Given the description of an element on the screen output the (x, y) to click on. 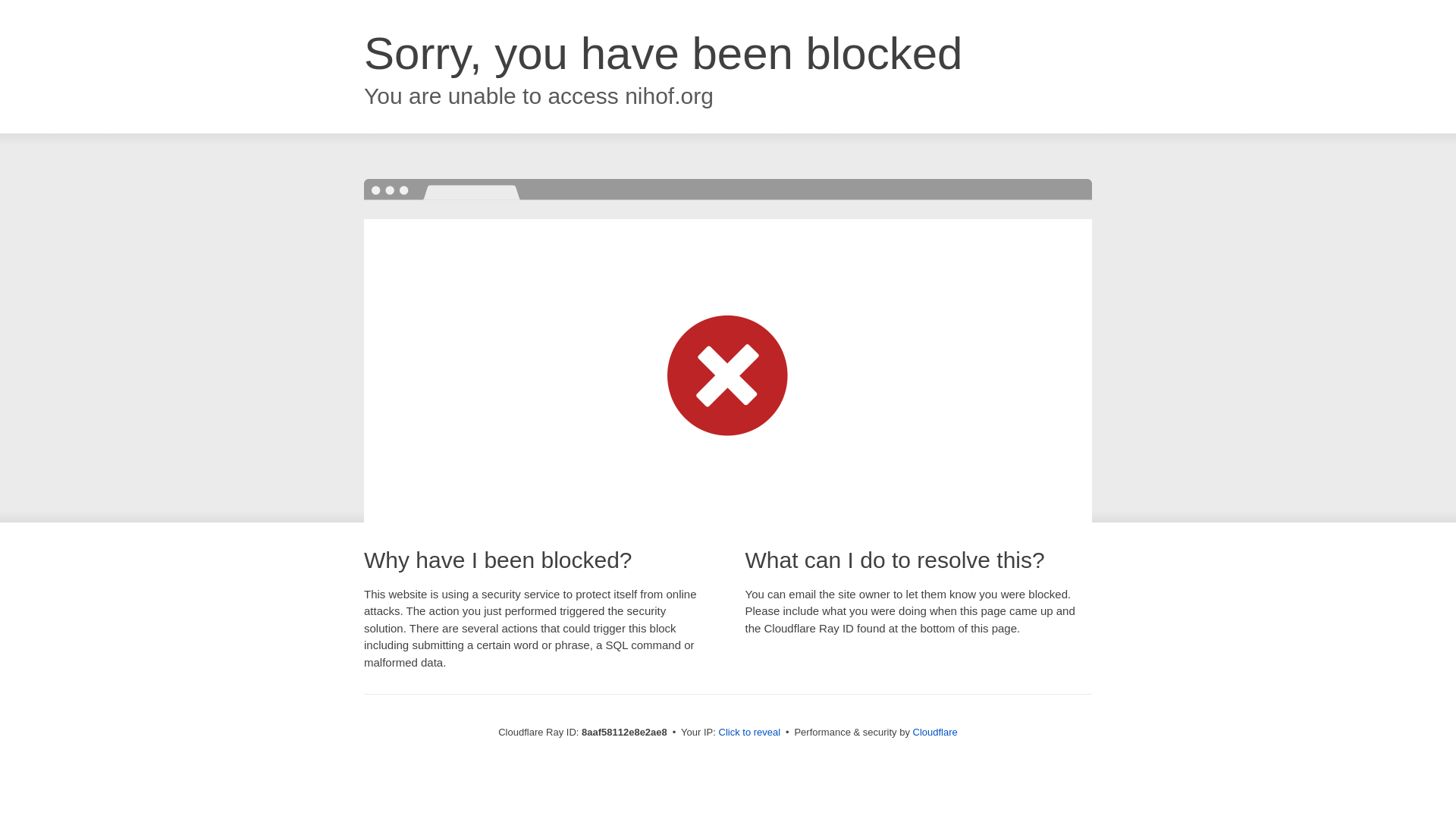
Cloudflare (935, 731)
Click to reveal (749, 732)
